Given the description of an element on the screen output the (x, y) to click on. 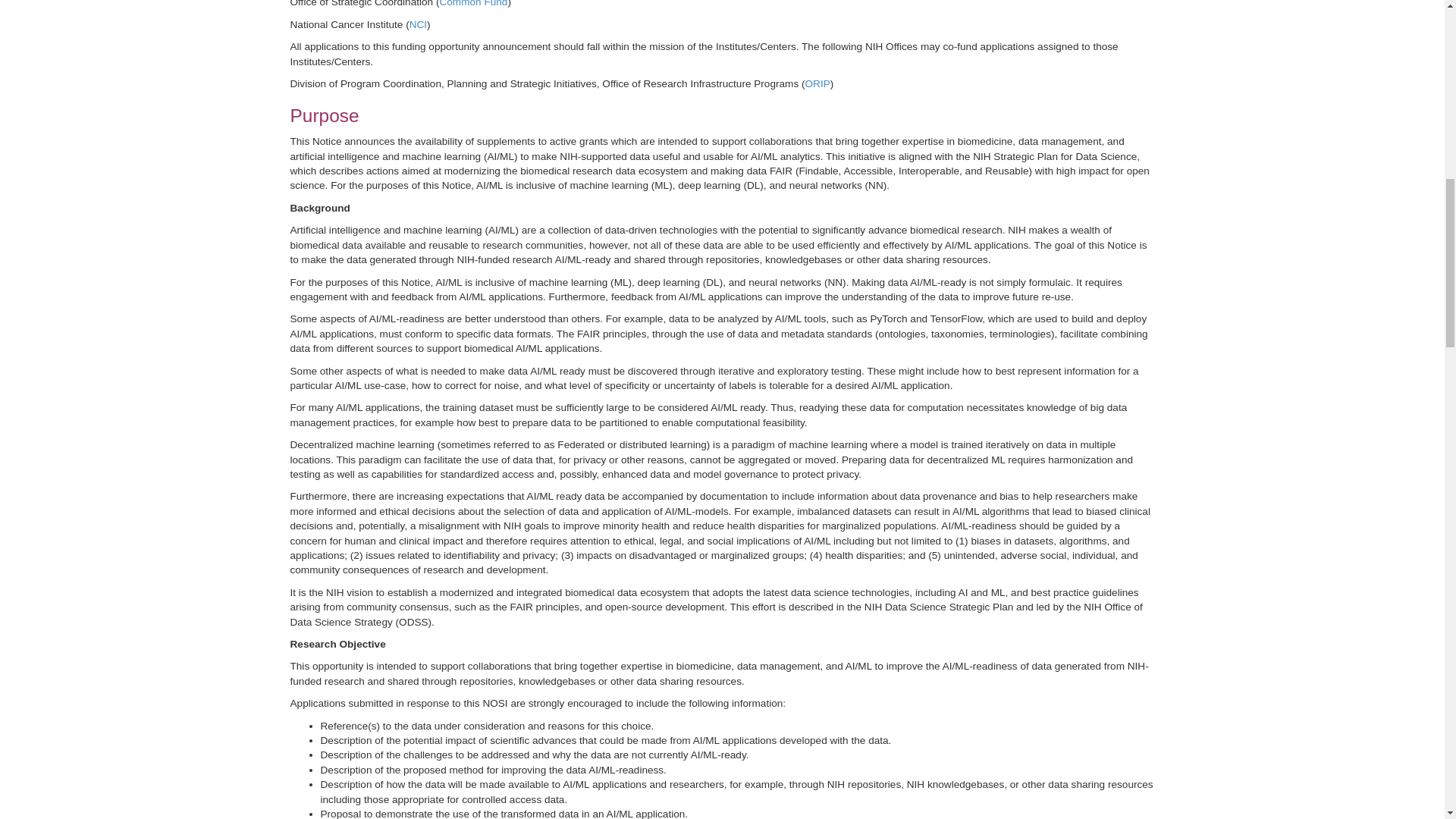
ORIP (817, 83)
NCI (417, 24)
Common Fund (472, 3)
